Given the description of an element on the screen output the (x, y) to click on. 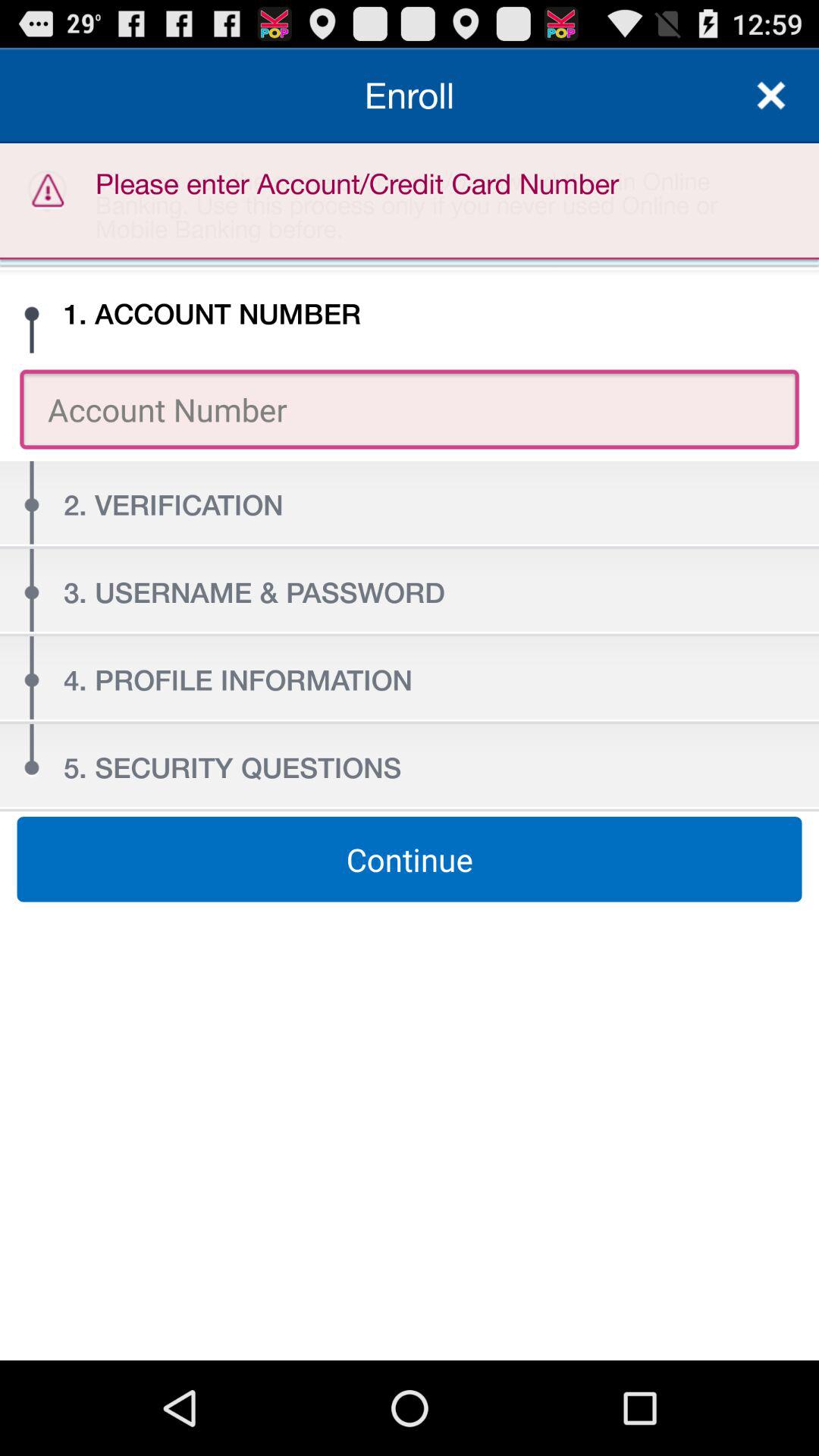
turn on enroll icon (409, 95)
